Given the description of an element on the screen output the (x, y) to click on. 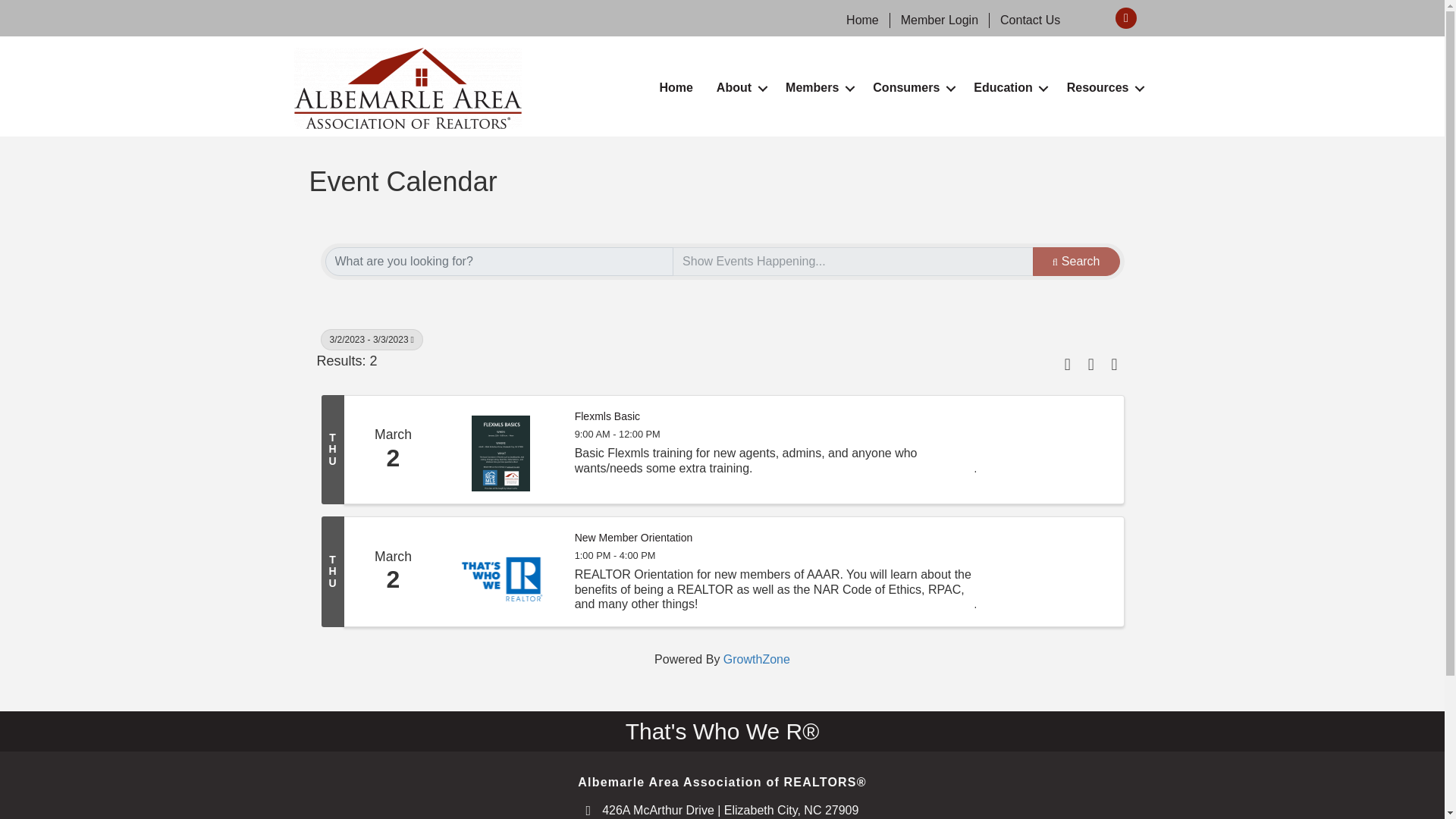
Consumers (910, 88)
Contact Us (1030, 20)
Members (817, 88)
Home (675, 88)
Resources (1103, 88)
Education (1008, 88)
About (738, 88)
Member Login (938, 20)
AAAR-logo-1 copy (407, 87)
Home (862, 20)
